Given the description of an element on the screen output the (x, y) to click on. 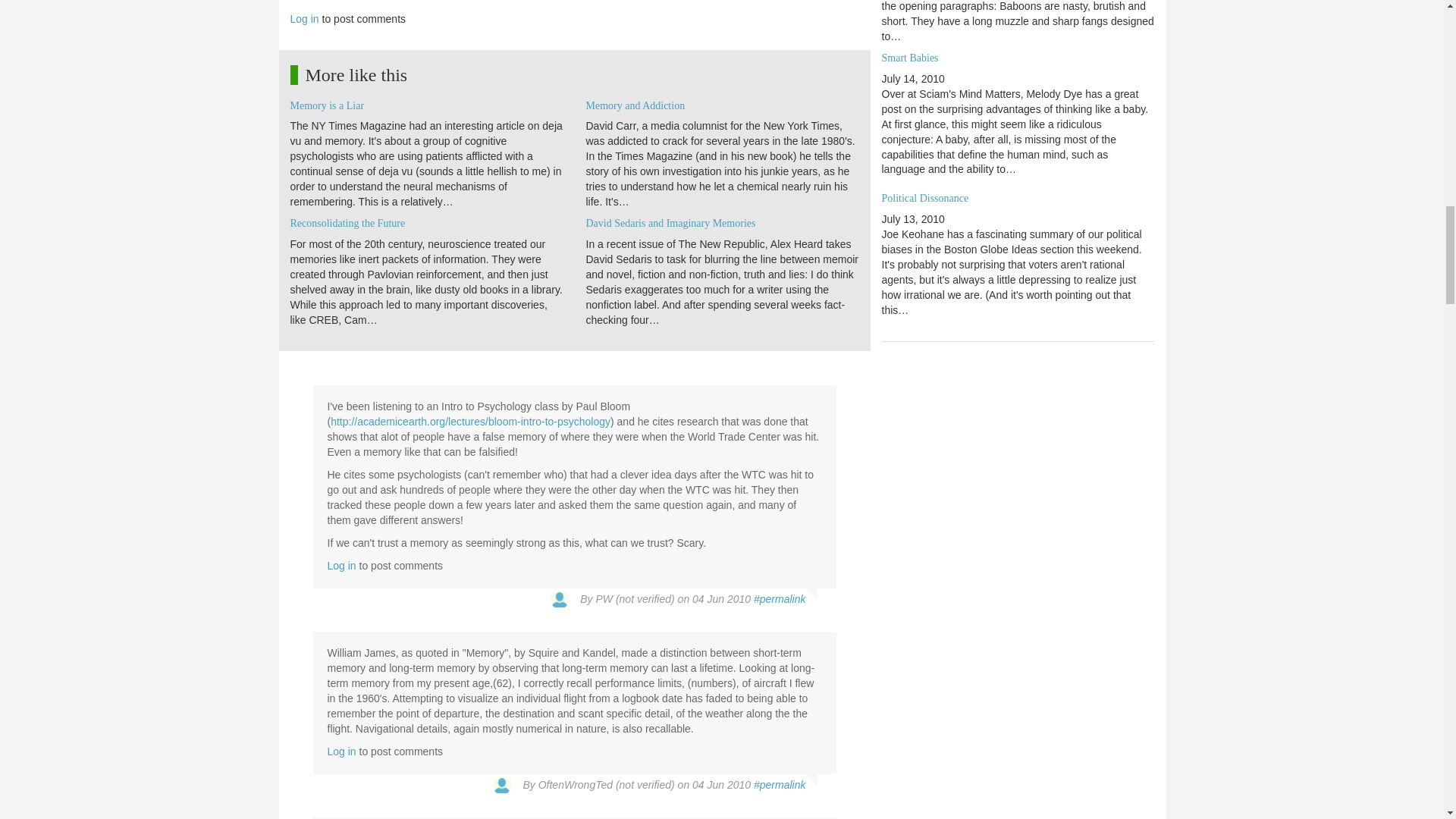
Memory and Addiction (634, 105)
Reconsolidating the Future (346, 223)
Log in (341, 565)
Log in (341, 751)
David Sedaris and Imaginary Memories (670, 223)
Memory is a Liar (326, 105)
Log in (303, 19)
